Given the description of an element on the screen output the (x, y) to click on. 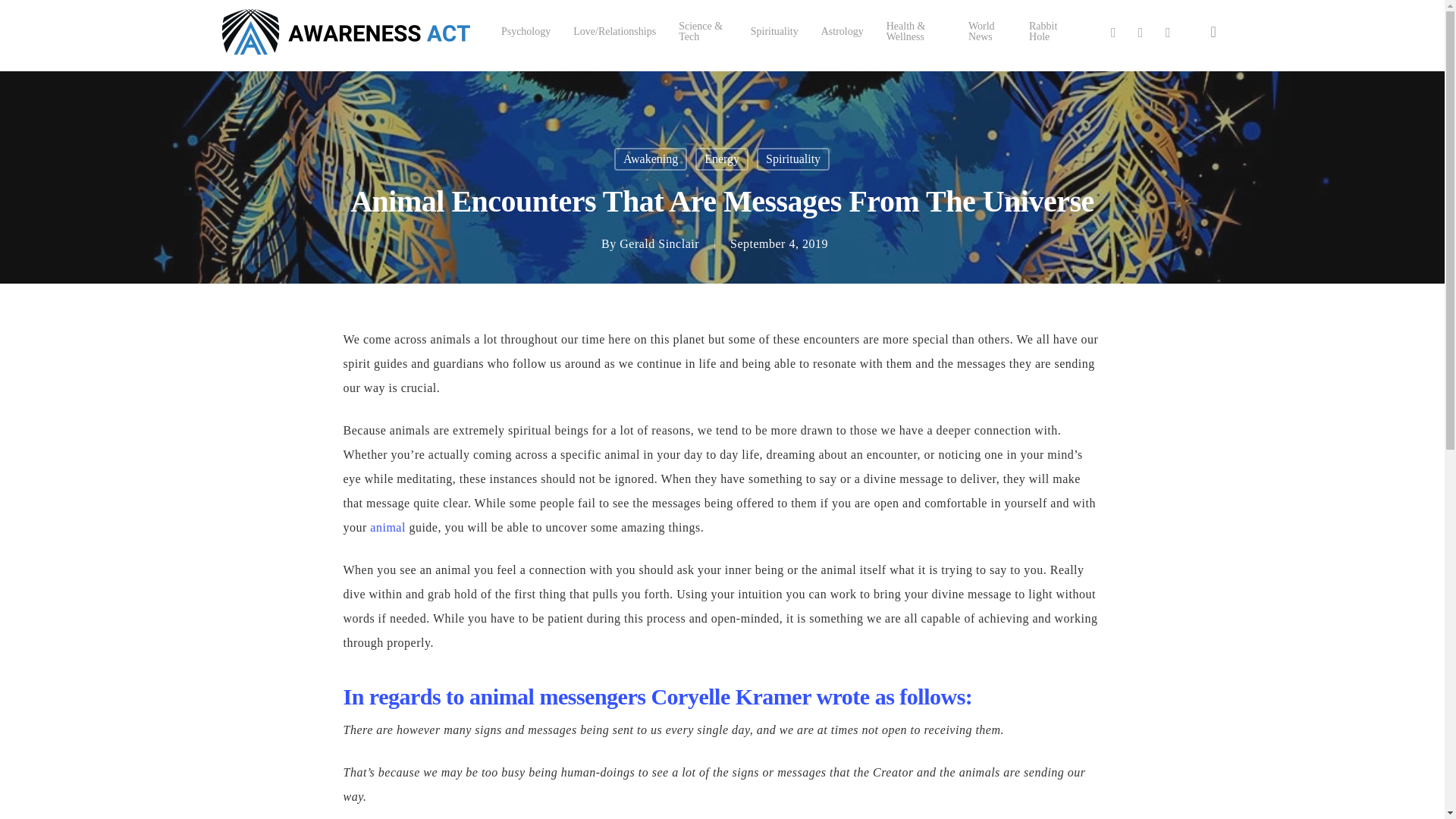
animal (387, 526)
World News (987, 31)
Awakening (650, 159)
Spirituality (793, 159)
search (1213, 32)
Psychology (525, 31)
Posts by Gerald Sinclair (659, 243)
Disclosure (873, 806)
Astrology (842, 31)
Legal (751, 806)
Spirituality (774, 31)
DMCA (787, 806)
Gerald Sinclair (659, 243)
Instagram (1167, 31)
